Given the description of an element on the screen output the (x, y) to click on. 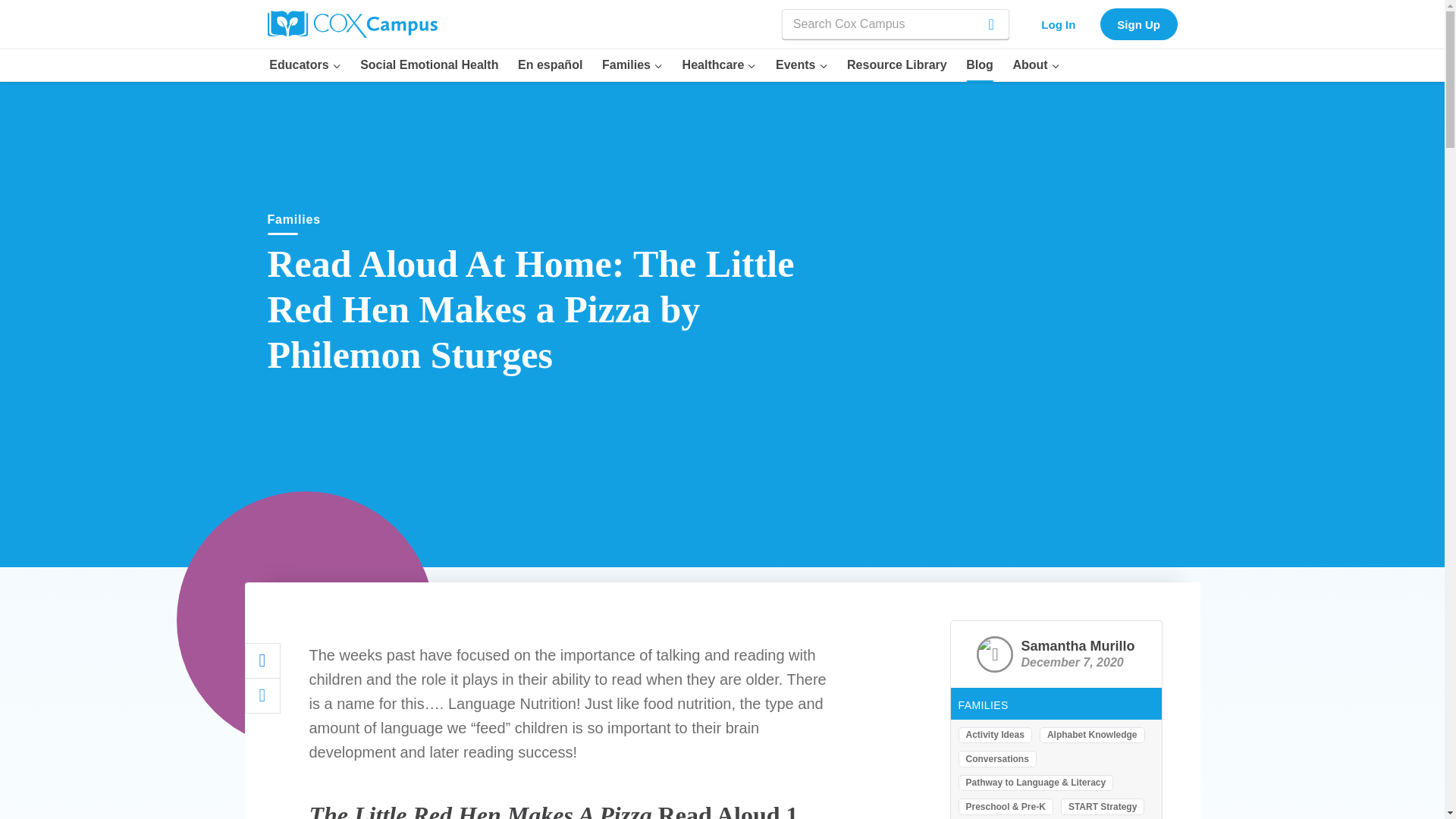
Social Emotional Health (429, 65)
Sign Up (1138, 23)
Log In (1059, 23)
Educators (304, 65)
Families (632, 65)
Search (979, 24)
